Given the description of an element on the screen output the (x, y) to click on. 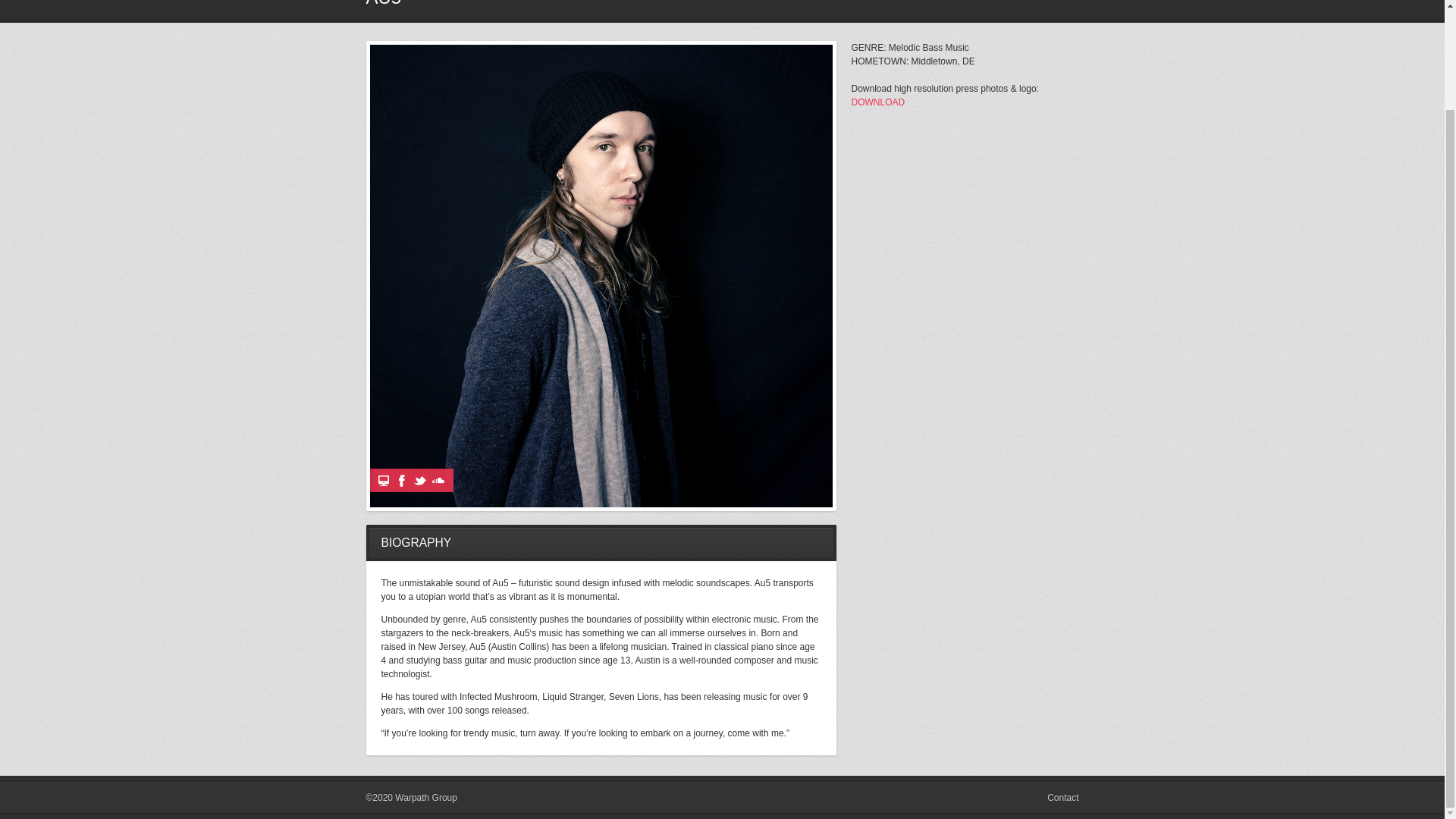
SoundCloud (438, 480)
Website (383, 480)
DOWNLOAD (877, 102)
Twitter (419, 480)
Facebook (401, 480)
Contact (1062, 797)
